Given the description of an element on the screen output the (x, y) to click on. 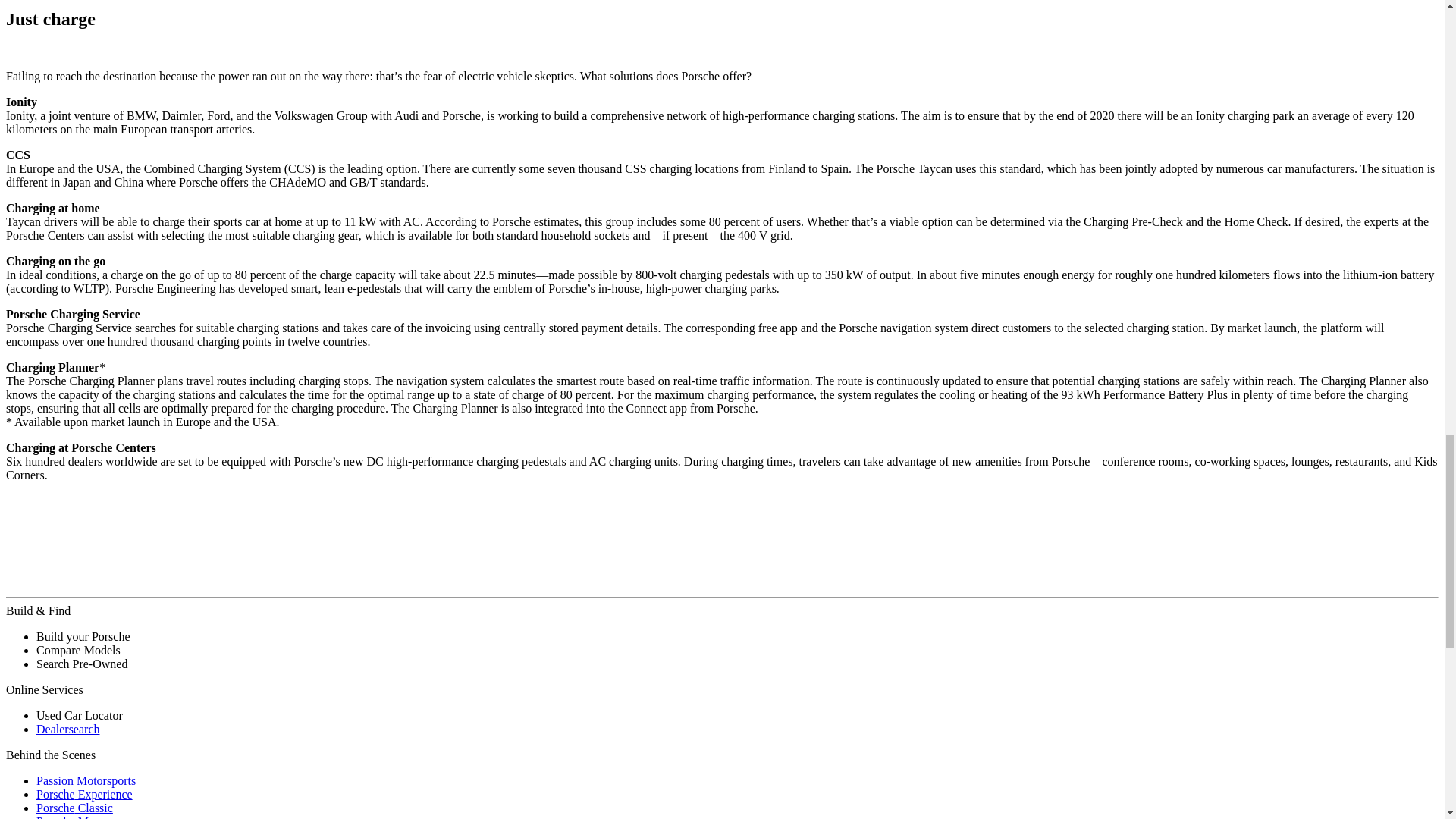
Porsche Experience (84, 793)
Porsche Classic (74, 807)
Porsche Museum (78, 816)
Compare Models (78, 649)
Build your Porsche (83, 635)
Used Car Locator (79, 715)
Search Pre-Owned (82, 663)
Passion Motorsports (85, 780)
Dealersearch (68, 728)
